Given the description of an element on the screen output the (x, y) to click on. 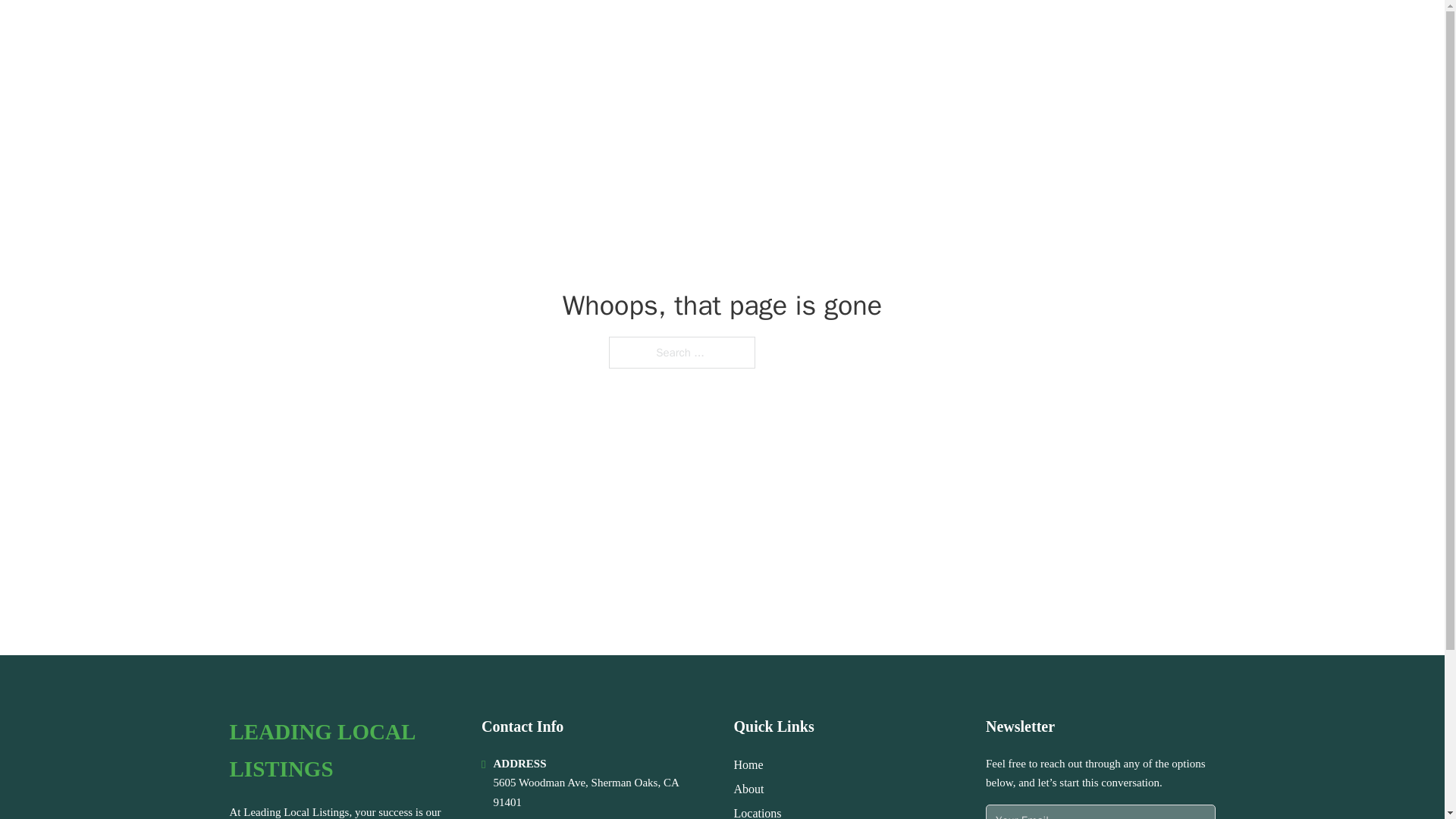
LEADING LOCAL LISTINGS (391, 31)
Locations (757, 811)
Home (747, 764)
LEADING LOCAL LISTINGS (343, 750)
About (748, 788)
HOME (1025, 31)
LOCATIONS (1098, 31)
